Given the description of an element on the screen output the (x, y) to click on. 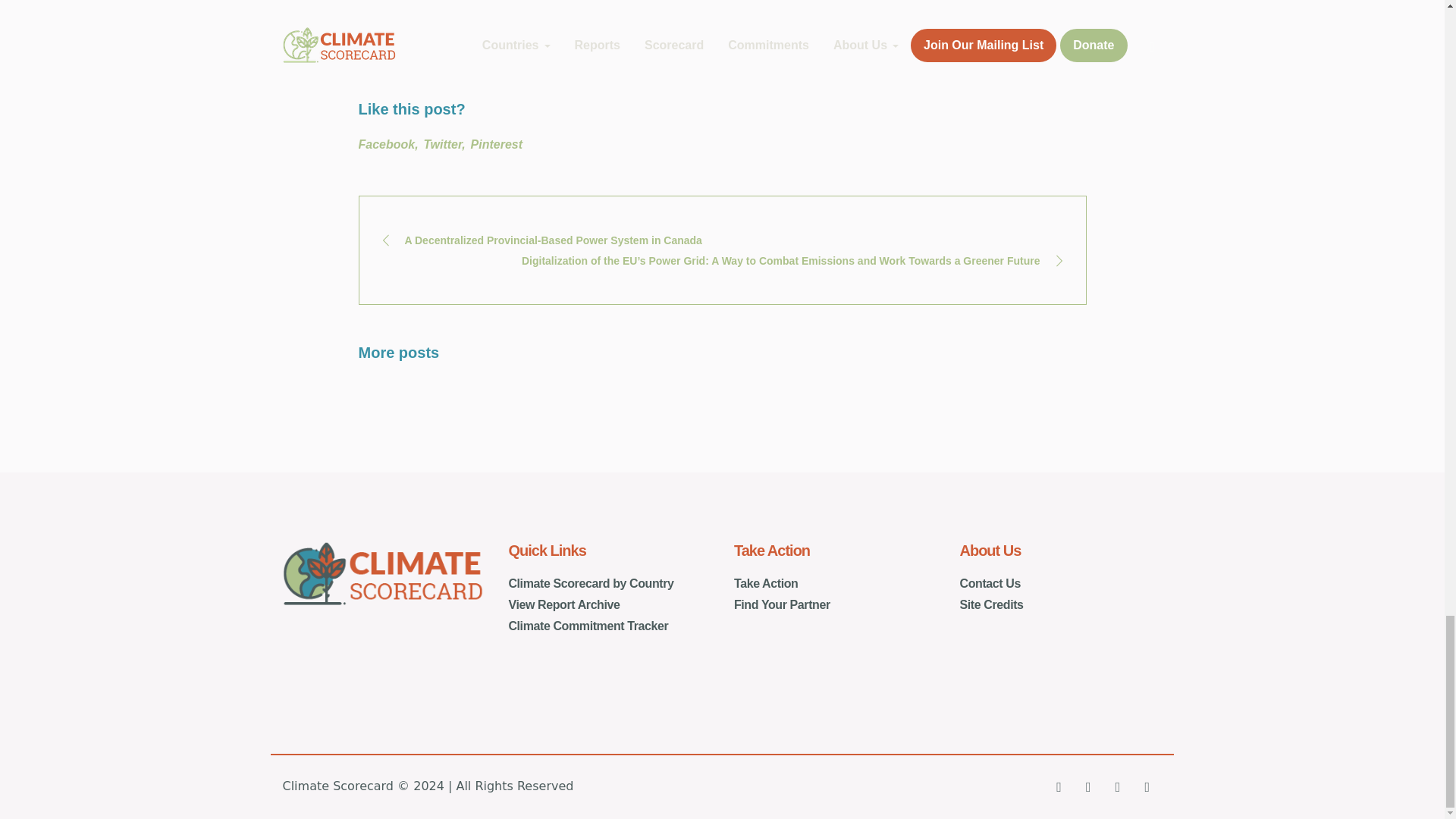
Facebook (1059, 786)
Instagram (1117, 786)
LinkedIn (1147, 786)
Twitter (1088, 786)
